Given the description of an element on the screen output the (x, y) to click on. 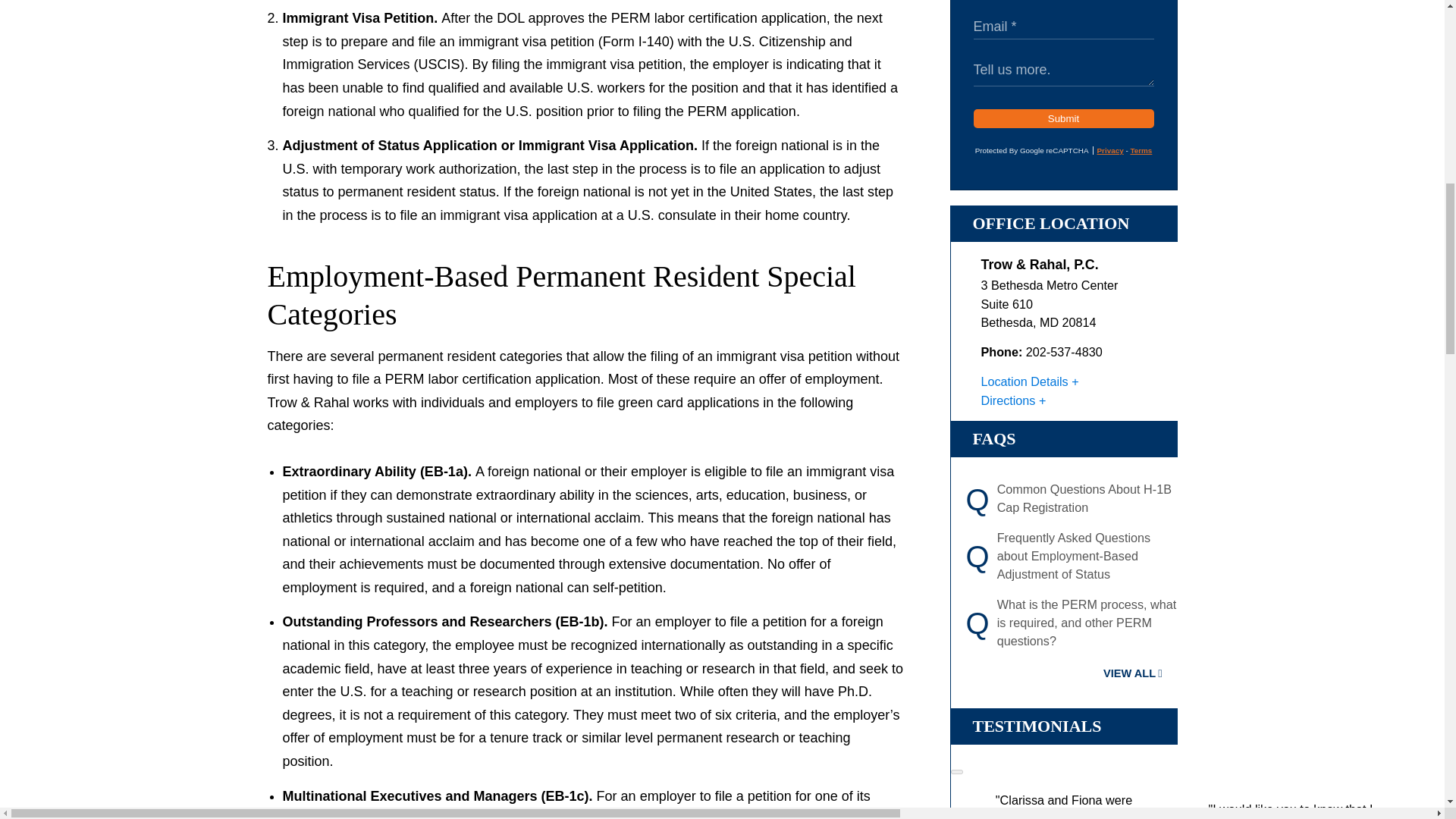
Submit (1064, 117)
FAQS (993, 438)
Directions (1013, 400)
Privacy (1109, 150)
Terms (1140, 150)
Location Details (1029, 381)
